Given the description of an element on the screen output the (x, y) to click on. 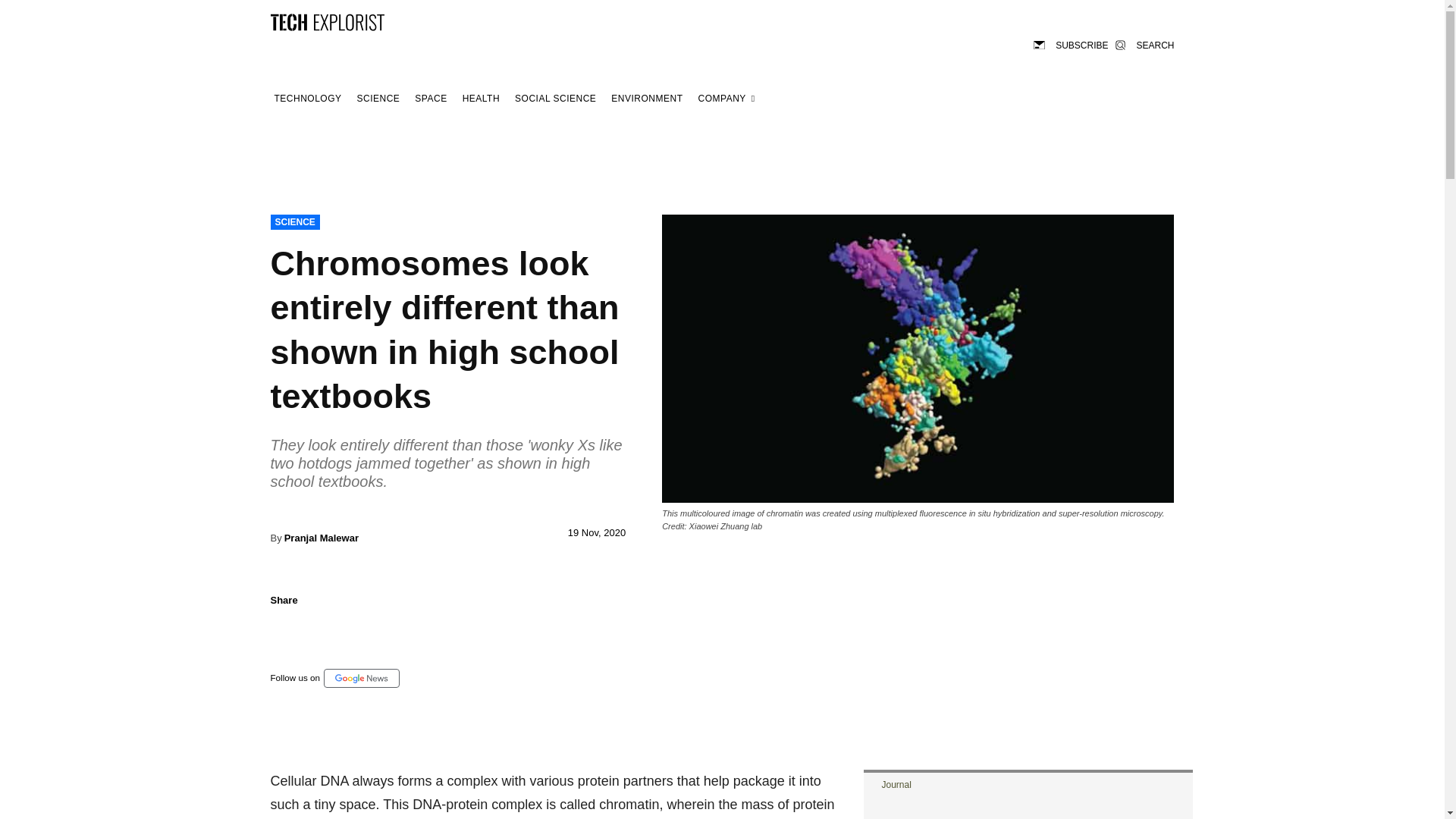
Health (480, 98)
SCIENCE (378, 98)
HEALTH (480, 98)
COMPANY (726, 98)
SEARCH (1144, 44)
ENVIRONMENT (646, 98)
TECHNOLOGY (307, 98)
SPACE (429, 98)
SCIENCE (293, 222)
